Given the description of an element on the screen output the (x, y) to click on. 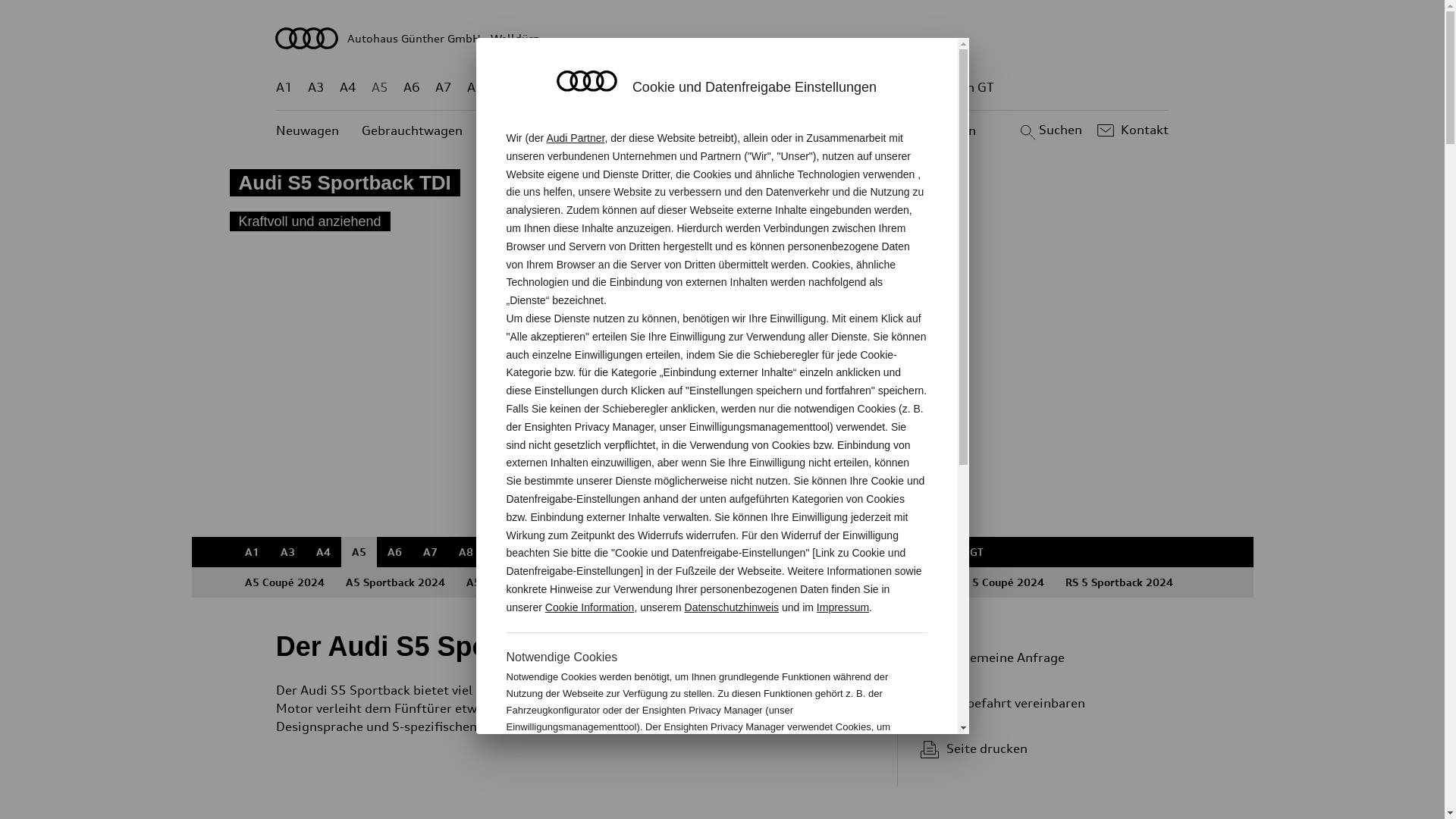
Q2 Element type: text (507, 87)
A3 Element type: text (315, 87)
Q7 Element type: text (678, 87)
e-tron GT Element type: text (965, 87)
Kontakt Element type: text (1130, 130)
g-tron Element type: text (903, 87)
Cookie Information Element type: text (847, 776)
S5 Sportback TDI 2024 Element type: text (760, 582)
TT Element type: text (818, 551)
A6 Element type: text (393, 551)
Q7 Element type: text (678, 551)
e-tron GT Element type: text (958, 551)
Allgemeine Anfrage Element type: text (1038, 657)
A5 Cabriolet 2024 Element type: text (513, 582)
Datenschutzhinweis Element type: text (731, 607)
Q8 e-tron Element type: text (767, 551)
A7 Element type: text (430, 551)
Angebote Element type: text (636, 130)
A8 Element type: text (475, 87)
A5 Sportback 2024 Element type: text (395, 582)
A1 Element type: text (284, 87)
A5 Element type: text (379, 87)
RS Element type: text (852, 551)
S5 Cabriolet 2024 Element type: text (886, 582)
Q3 Element type: text (540, 87)
A3 Element type: text (287, 551)
Probefahrt vereinbaren Element type: text (1038, 702)
Cookie Information Element type: text (589, 607)
Q3 Element type: text (536, 551)
A1 Element type: text (251, 551)
RS 5 Sportback 2024 Element type: text (1118, 582)
Impressum Element type: text (842, 607)
Neuwagen Element type: text (307, 130)
g-tron Element type: text (897, 551)
Suchen Element type: text (1049, 130)
A5 Element type: text (358, 551)
Audi Partner Element type: text (575, 137)
A4 Element type: text (322, 551)
A8 Element type: text (465, 551)
Q5 Element type: text (645, 87)
Q8 e-tron Element type: text (763, 87)
A7 Element type: text (443, 87)
Q2 Element type: text (501, 551)
A6 Element type: text (411, 87)
Q4 e-tron Element type: text (592, 87)
Q5 Element type: text (642, 551)
TT Element type: text (814, 87)
Q8 Element type: text (713, 551)
Seite drucken Element type: text (1044, 748)
RS Element type: text (861, 87)
Q4 e-tron Element type: text (590, 551)
Gebrauchtwagen Element type: text (411, 130)
Q8 Element type: text (710, 87)
A4 Element type: text (347, 87)
Kundenservice Element type: text (730, 130)
